Given the description of an element on the screen output the (x, y) to click on. 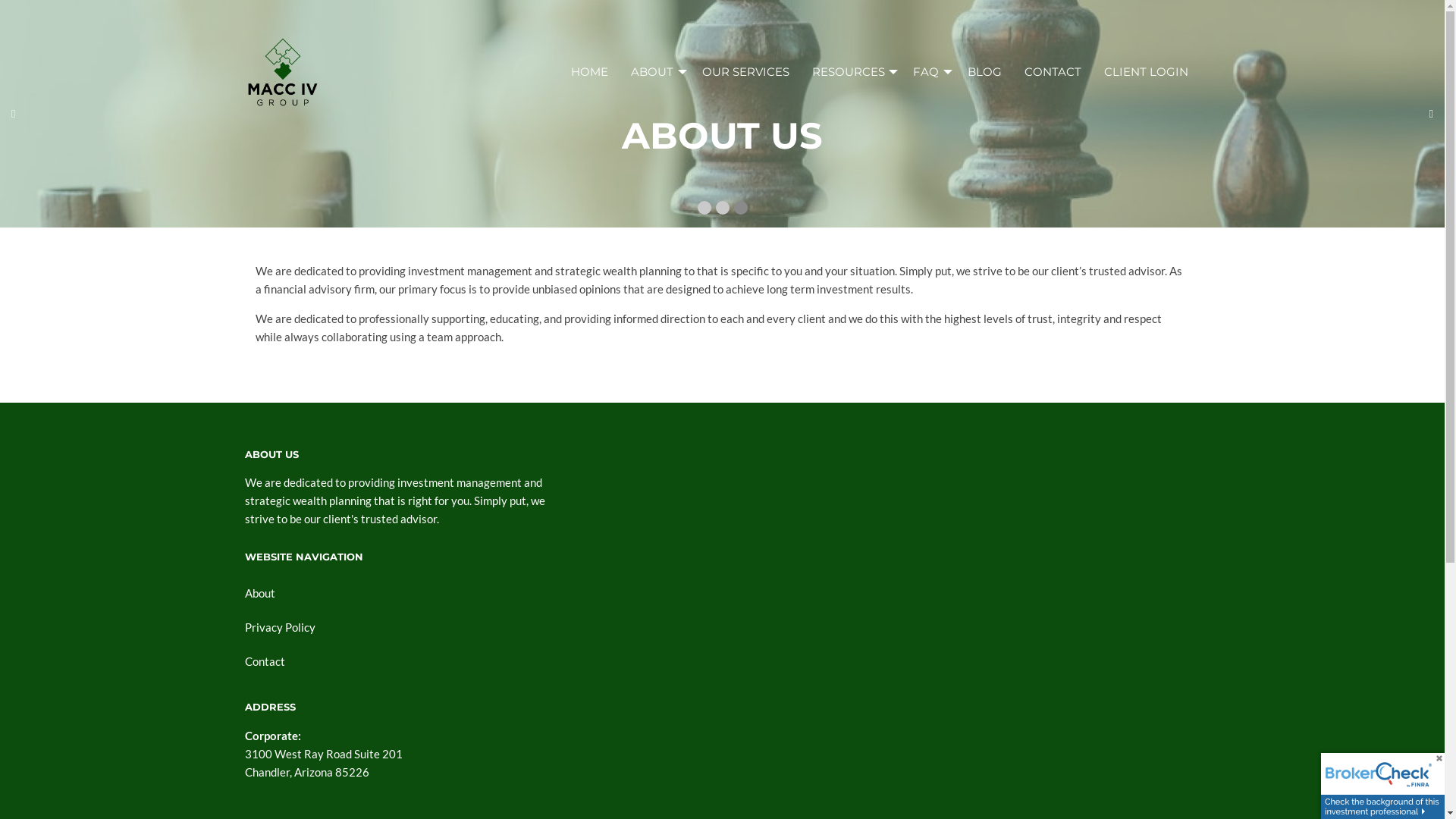
RESOURCES Element type: text (851, 71)
FAQ Element type: text (928, 71)
BLOG Element type: text (984, 71)
Skip to main content Element type: text (0, 0)
Contact Element type: text (721, 660)
HOME Element type: text (589, 71)
About Element type: text (721, 592)
ABOUT Element type: text (654, 71)
CLIENT LOGIN Element type: text (1145, 71)
Privacy Policy Element type: text (721, 626)
OUR SERVICES Element type: text (745, 71)
CONTACT Element type: text (1052, 71)
